Given the description of an element on the screen output the (x, y) to click on. 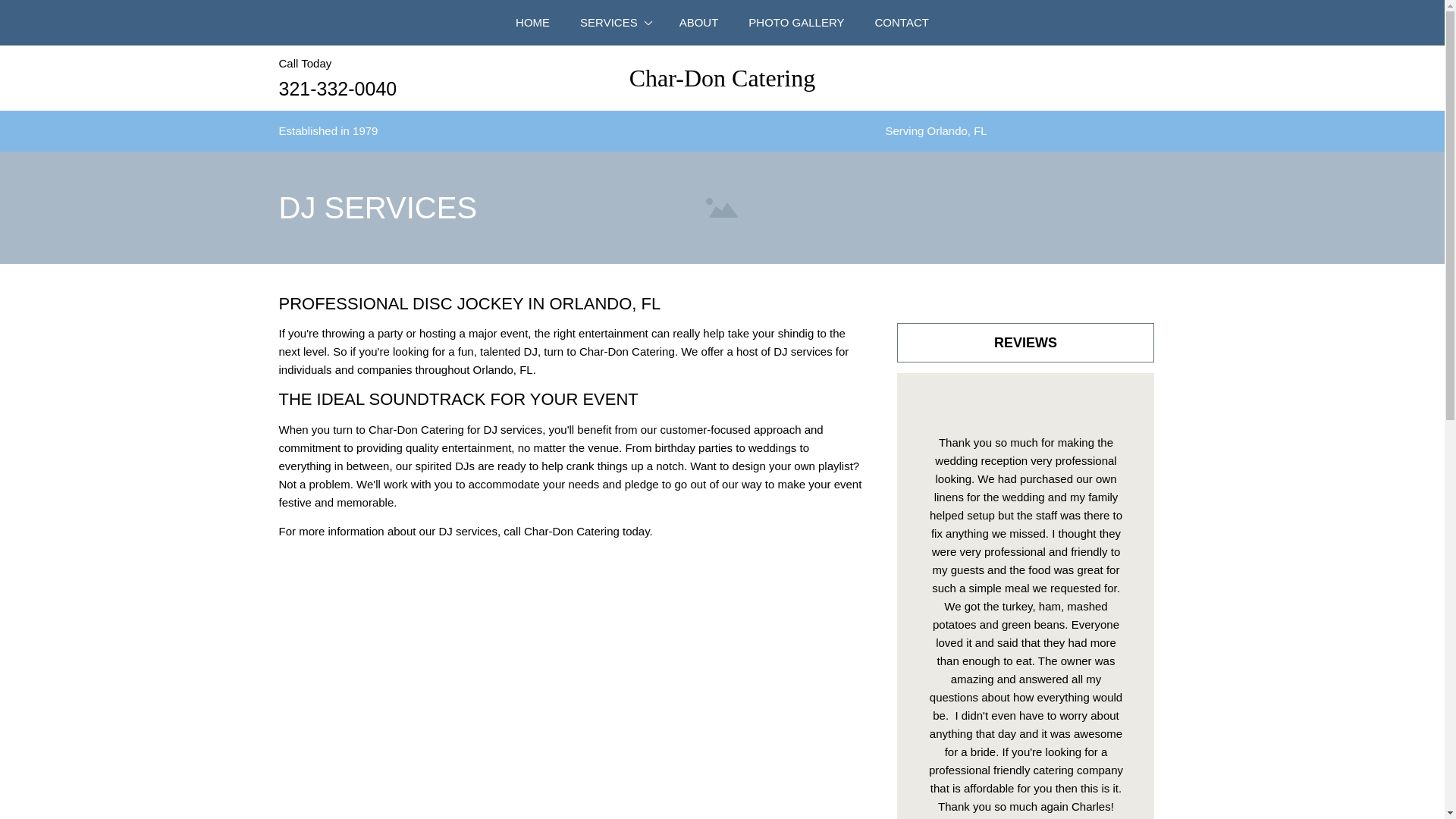
SERVICES (613, 22)
ABOUT (698, 22)
321-332-0040 (338, 88)
PHOTO GALLERY (796, 22)
HOME (532, 22)
CONTACT (901, 22)
Char-Don Catering (721, 79)
